Given the description of an element on the screen output the (x, y) to click on. 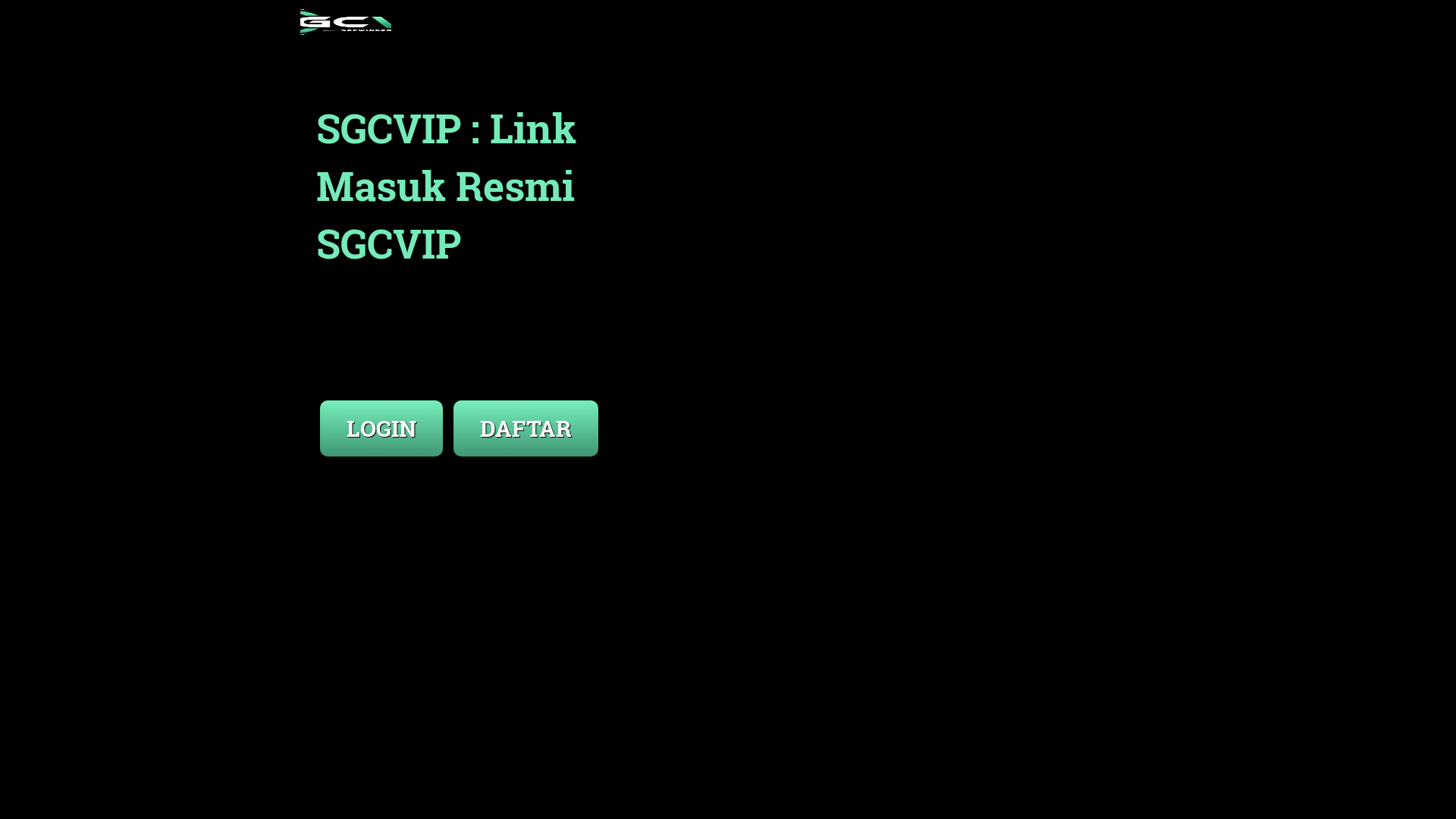
DAFTAR Element type: text (525, 411)
LOGIN Element type: text (381, 428)
DAFTAR Element type: text (525, 428)
LOGIN Element type: text (382, 411)
